Given the description of an element on the screen output the (x, y) to click on. 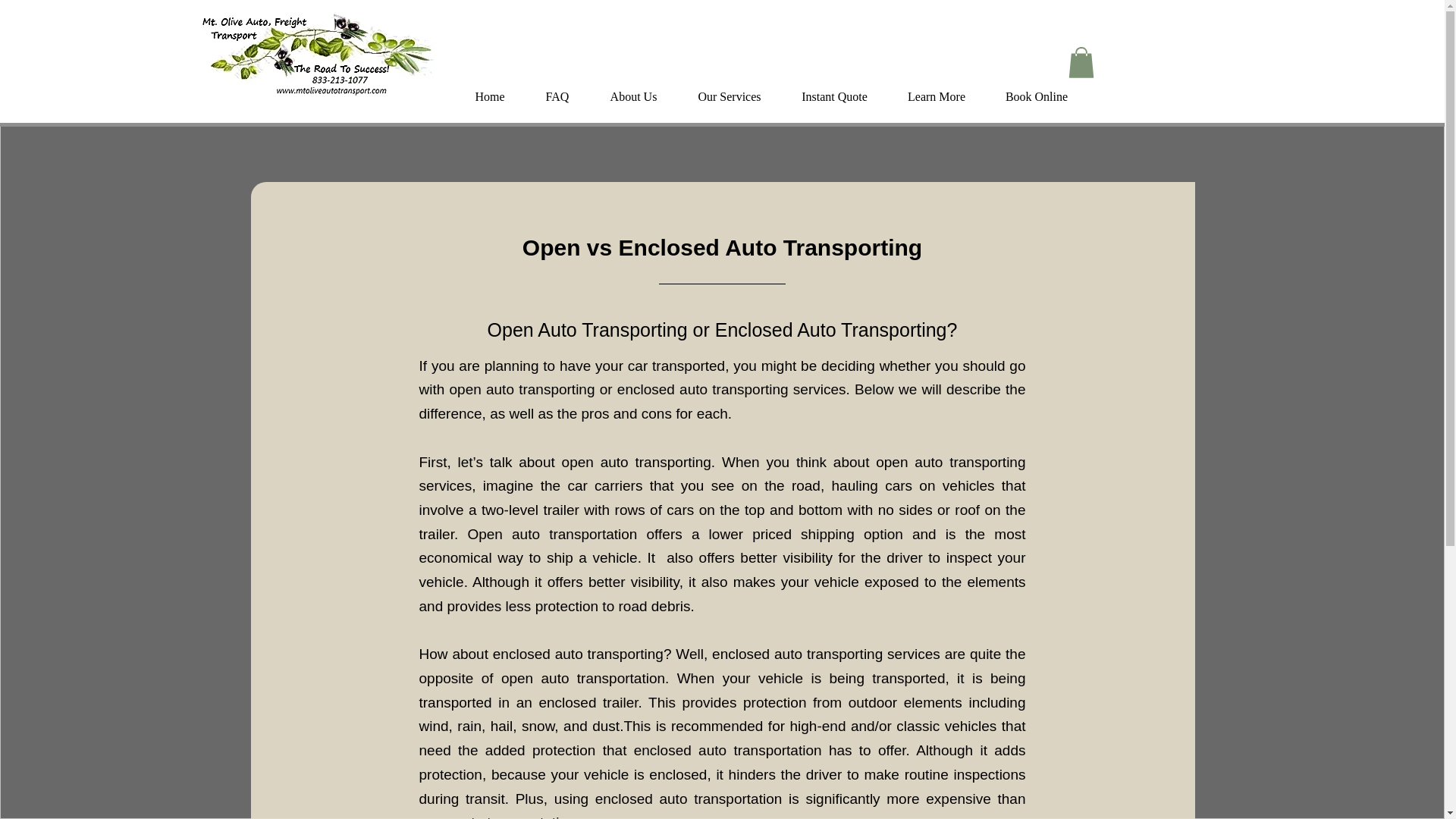
Home (489, 96)
Book Online (1036, 96)
Our Services (729, 96)
Instant Quote (833, 96)
FAQ (556, 96)
